Given the description of an element on the screen output the (x, y) to click on. 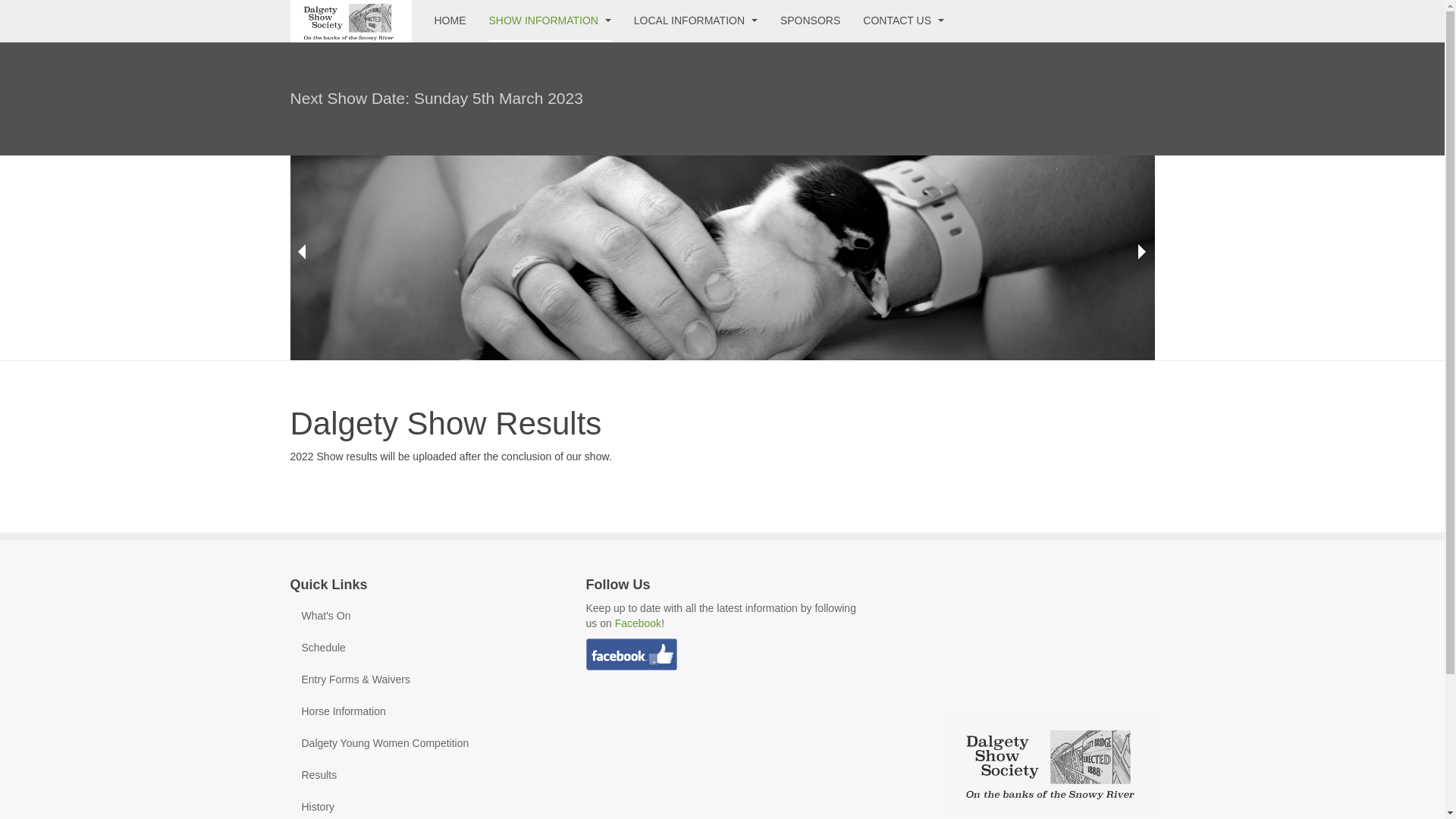
Dalgety Young Women Competition Element type: text (425, 743)
CONTACT US Element type: text (903, 20)
Dalgety Show Society Element type: hover (350, 20)
Horse Information Element type: text (425, 711)
Entry Forms & Waivers Element type: text (425, 679)
SPONSORS Element type: text (810, 20)
Results Element type: text (425, 774)
SHOW INFORMATION Element type: text (549, 20)
Facebook Element type: text (638, 623)
HOME Element type: text (449, 20)
Schedule Element type: text (425, 647)
LOCAL INFORMATION Element type: text (695, 20)
What's On Element type: text (425, 615)
